Given the description of an element on the screen output the (x, y) to click on. 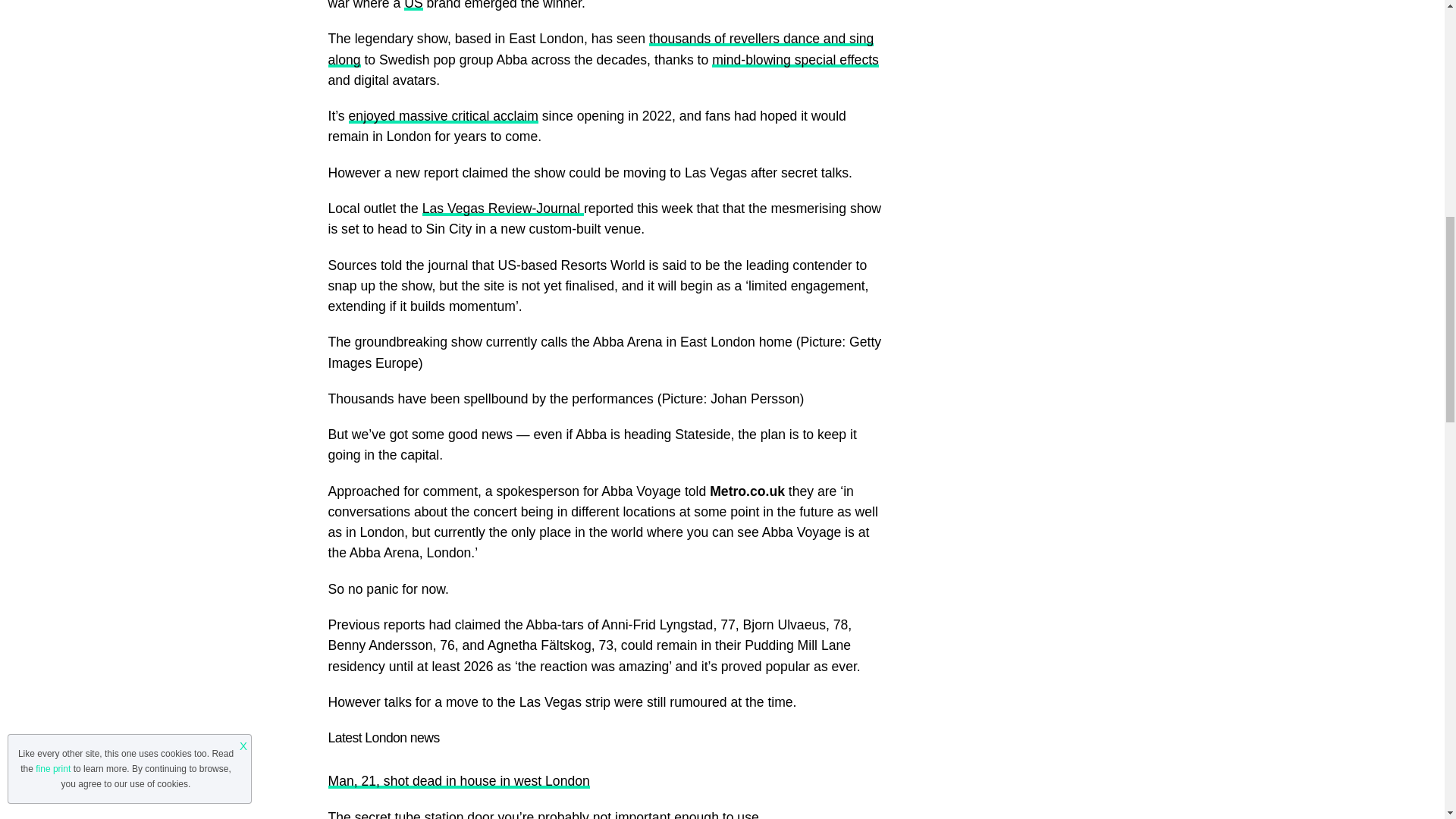
Man, 21, shot dead in house in west London (458, 780)
mind-blowing special effects (795, 59)
enjoyed massive critical acclaim (443, 115)
US (413, 5)
Las Vegas Review-Journal (502, 208)
thousands of revellers dance and sing along (600, 48)
